Given the description of an element on the screen output the (x, y) to click on. 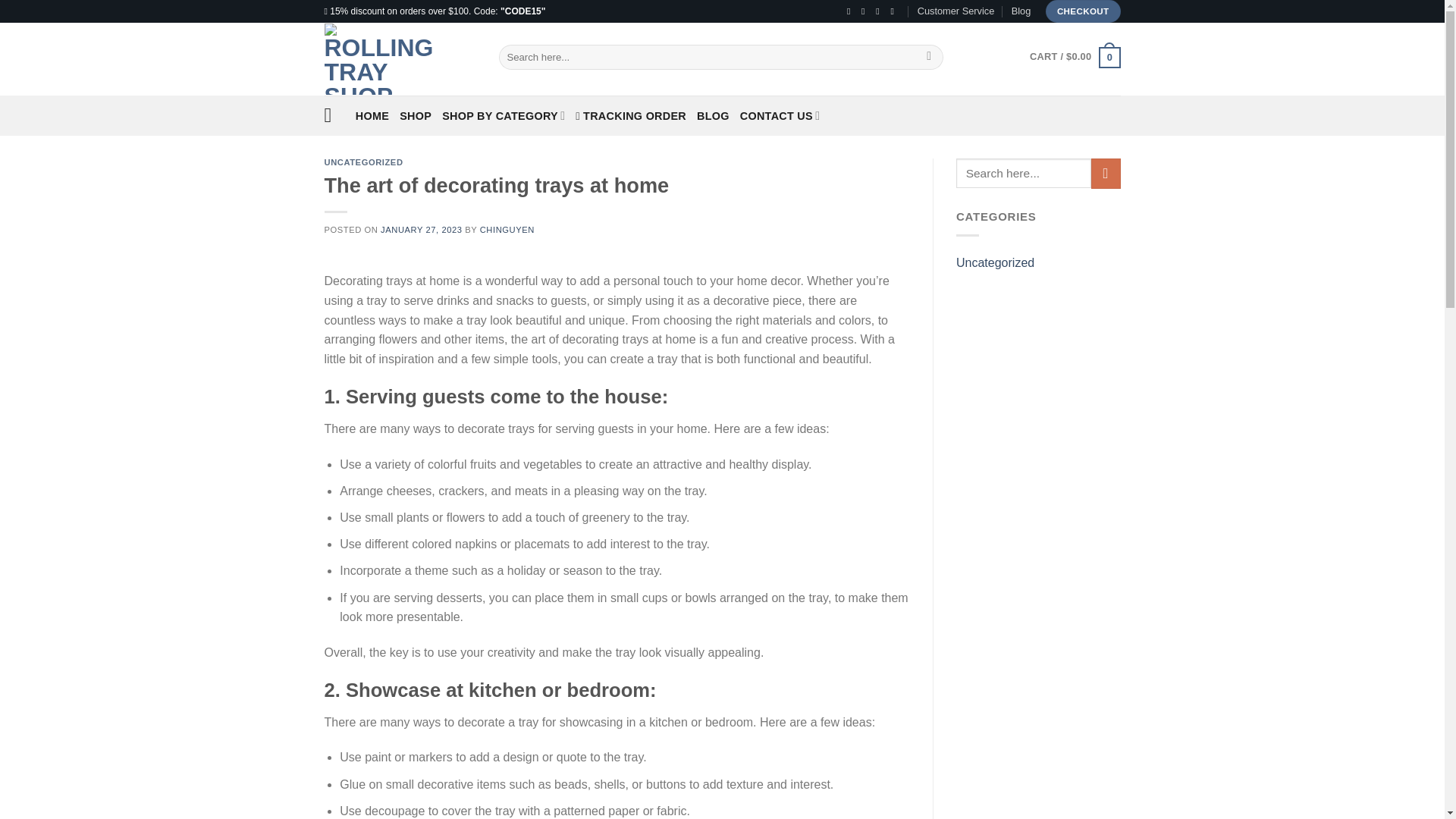
Cart (1074, 56)
Follow on Instagram (865, 10)
SHOP BY CATEGORY (503, 115)
UNCATEGORIZED (363, 162)
Follow on Twitter (880, 10)
SHOP (414, 115)
Rolling Tray Shop - Official Rolling Tray Store (400, 58)
HOME (371, 115)
Follow on Facebook (851, 10)
Blog (1020, 11)
CONTACT US (779, 115)
BLOG (713, 115)
Send us an email (894, 10)
Customer Service (955, 11)
JANUARY 27, 2023 (420, 229)
